Given the description of an element on the screen output the (x, y) to click on. 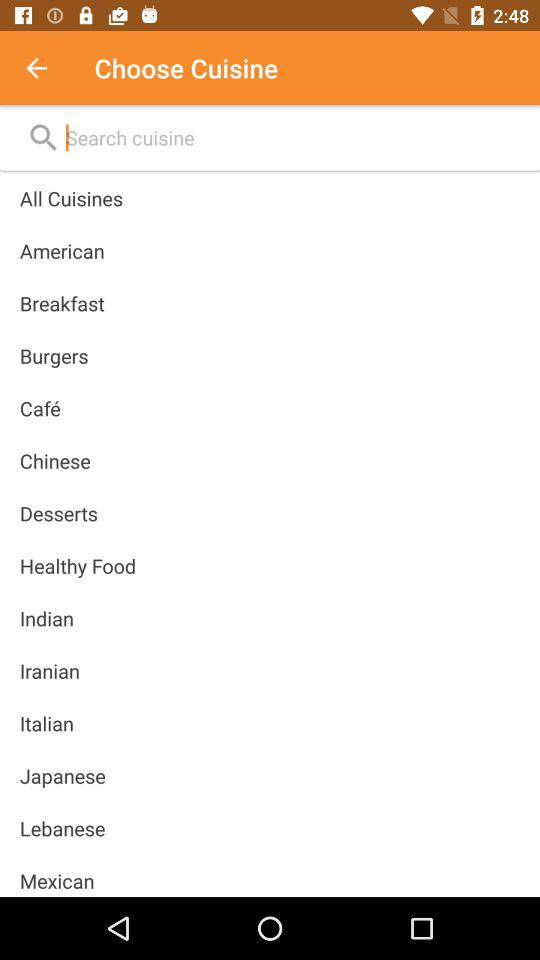
choose icon above the american (71, 198)
